Given the description of an element on the screen output the (x, y) to click on. 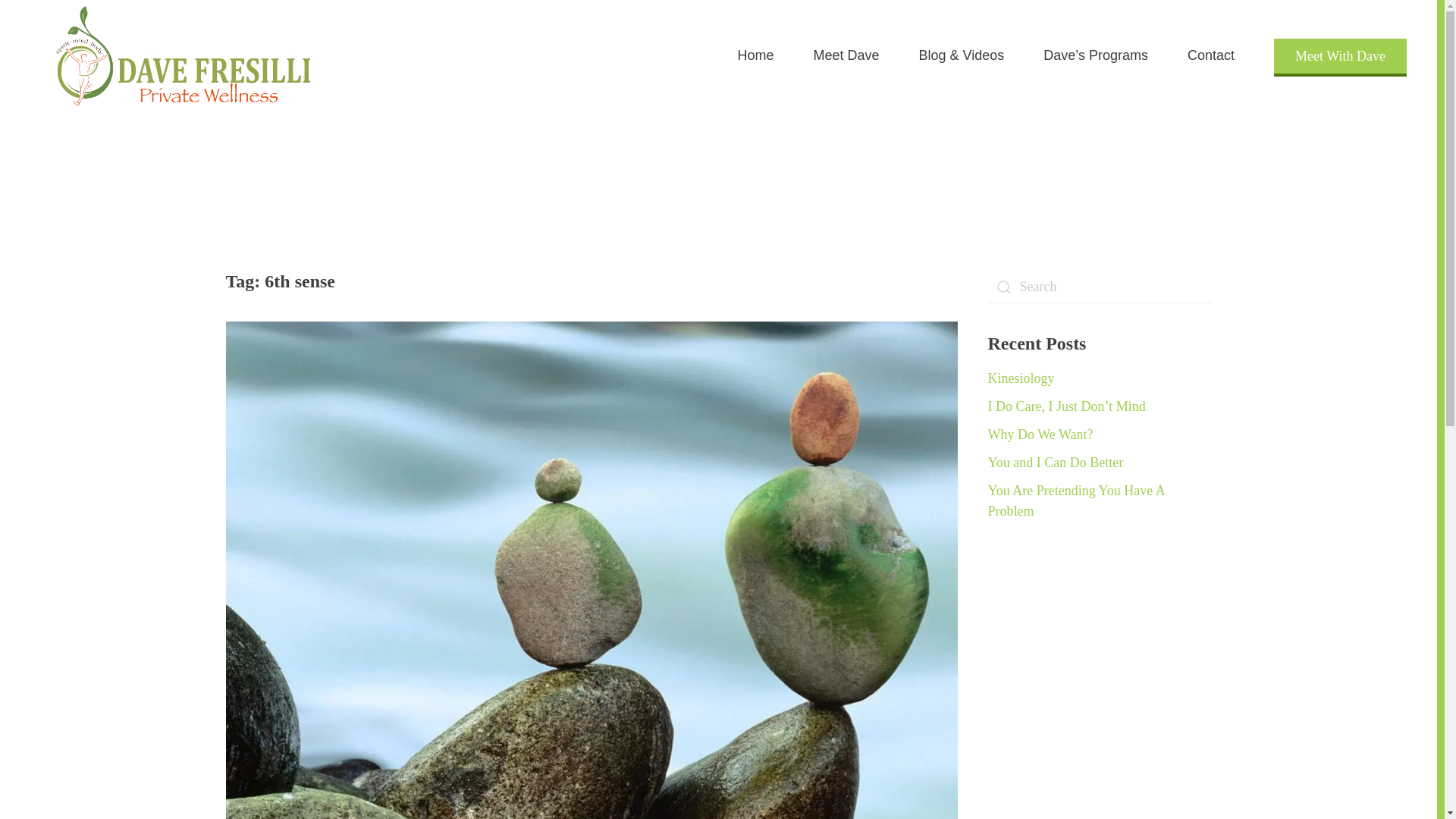
Contact (1210, 55)
Meet Dave (846, 55)
Meet With Dave (1340, 55)
Home (755, 55)
